Given the description of an element on the screen output the (x, y) to click on. 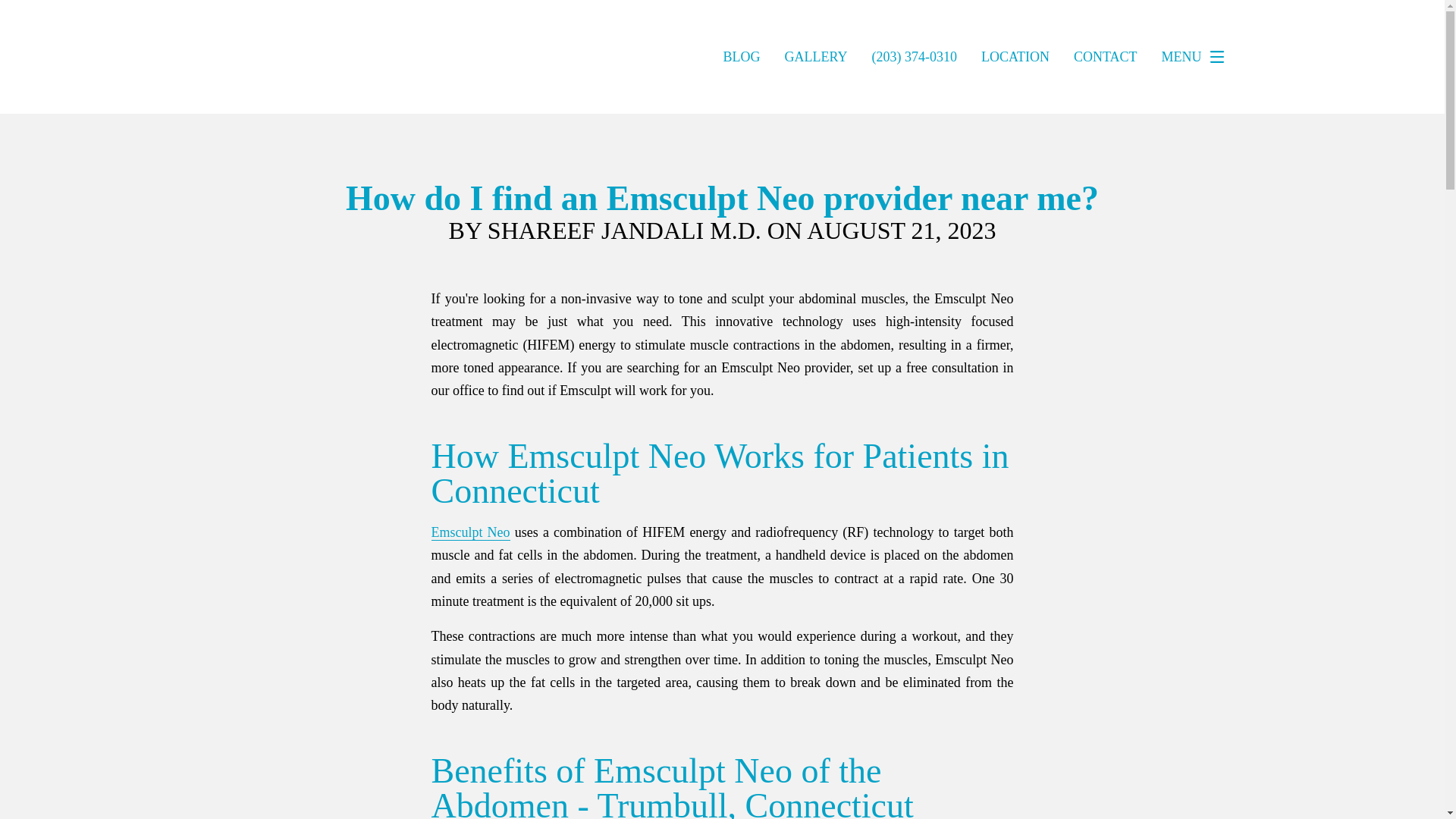
CONTACT (1105, 56)
GALLERY (815, 56)
LOCATION (1015, 56)
Emsculpt Neo (469, 532)
MENU (1196, 56)
BLOG (741, 56)
